Given the description of an element on the screen output the (x, y) to click on. 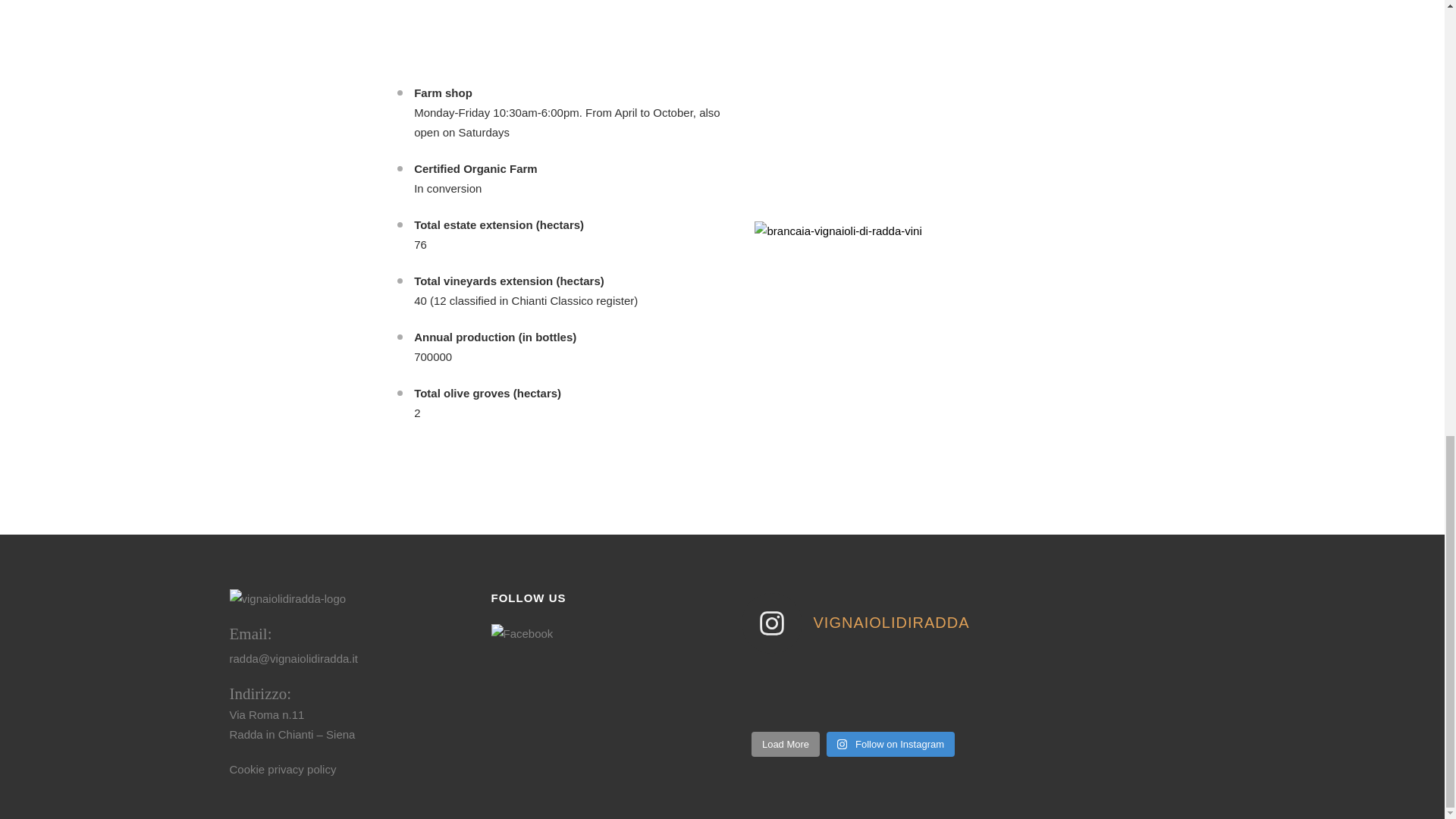
Cookie privacy policy (282, 768)
Follow on Instagram (891, 744)
VIGNAIOLIDIRADDA (856, 622)
Load More (785, 744)
